Given the description of an element on the screen output the (x, y) to click on. 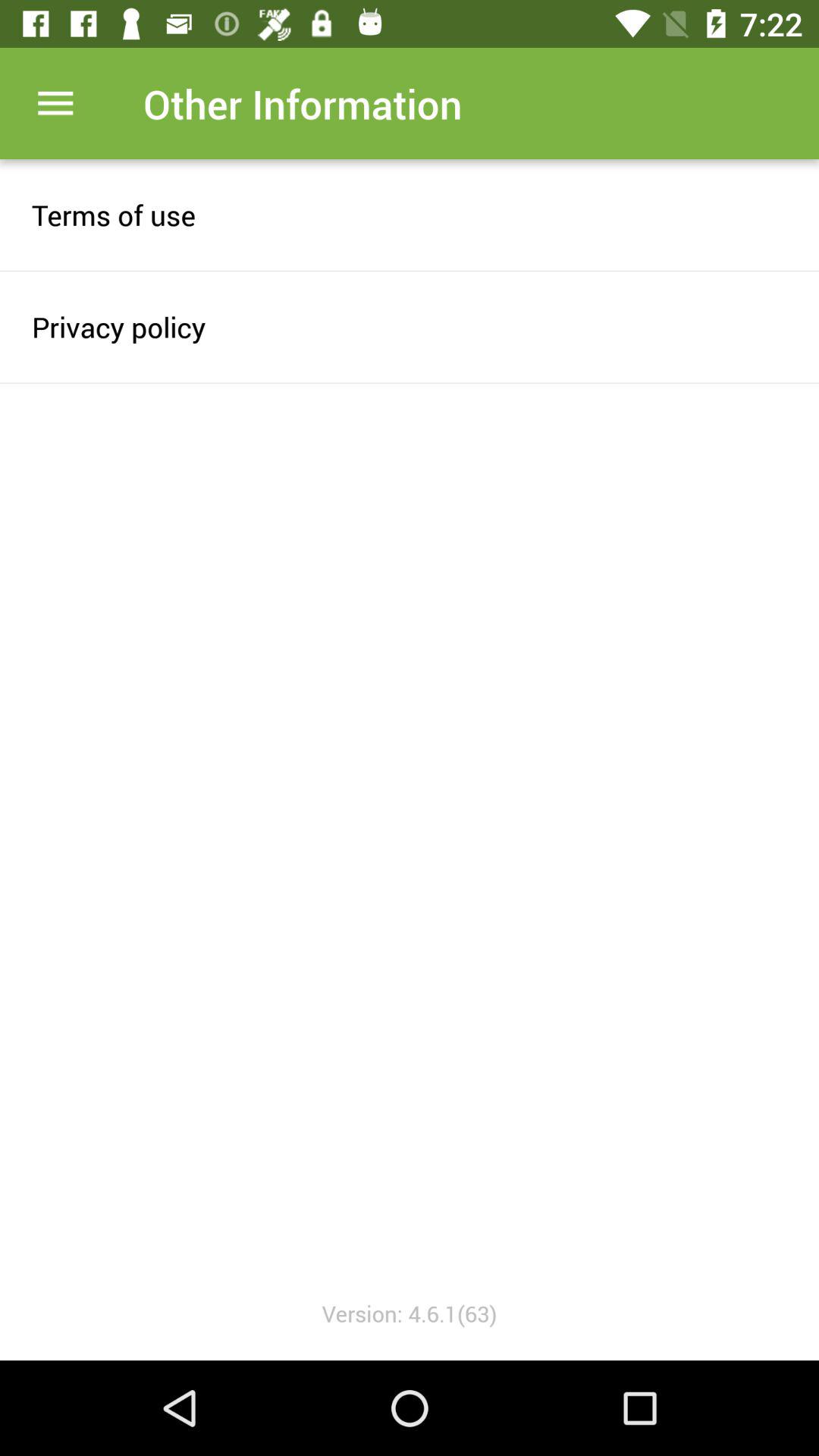
press the icon at the top left corner (55, 103)
